Given the description of an element on the screen output the (x, y) to click on. 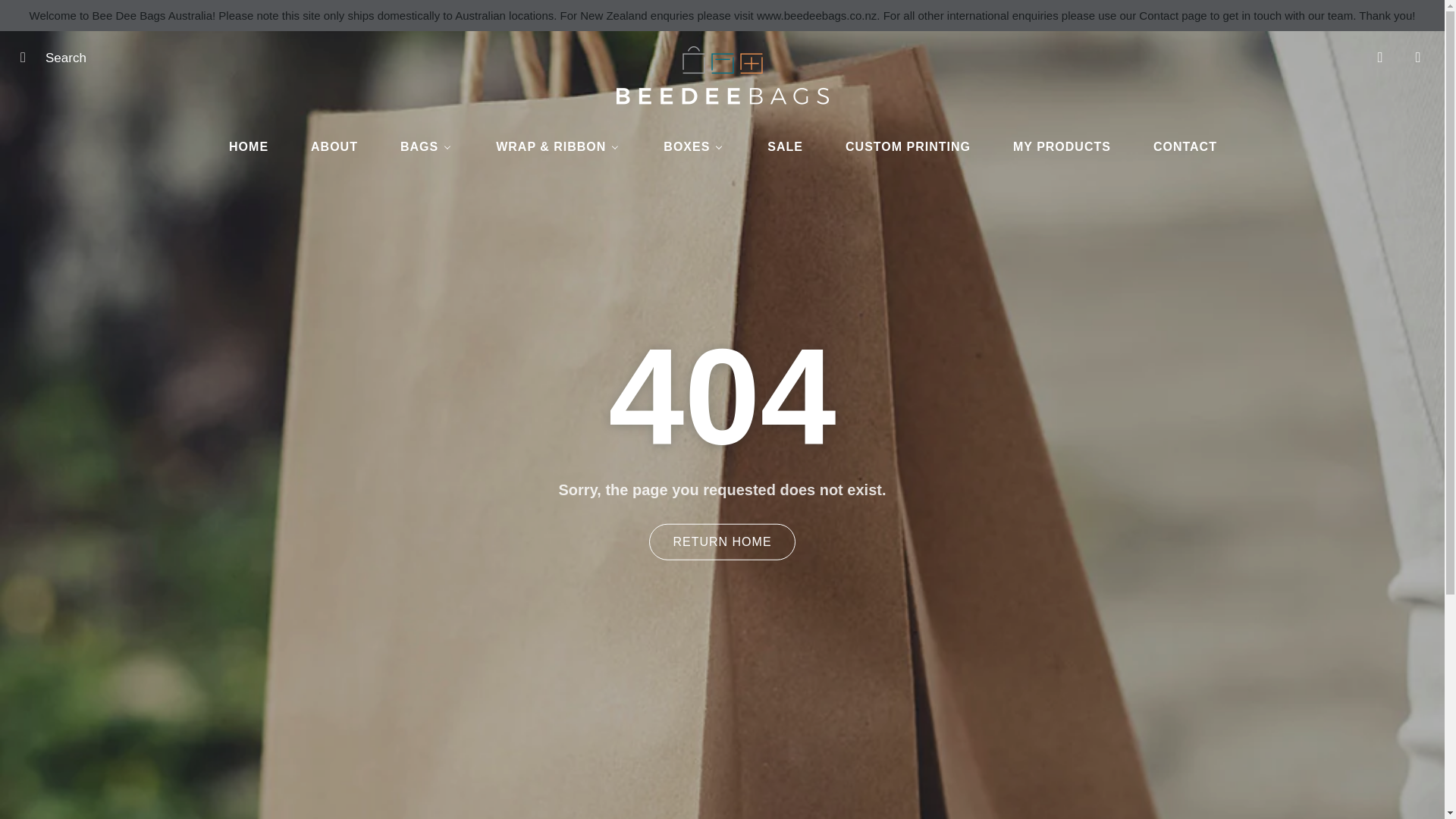
My account (1379, 56)
BAGS (426, 146)
ABOUT (333, 146)
You have 0 items in your cart (1417, 56)
Search (28, 56)
HOME (247, 146)
